Given the description of an element on the screen output the (x, y) to click on. 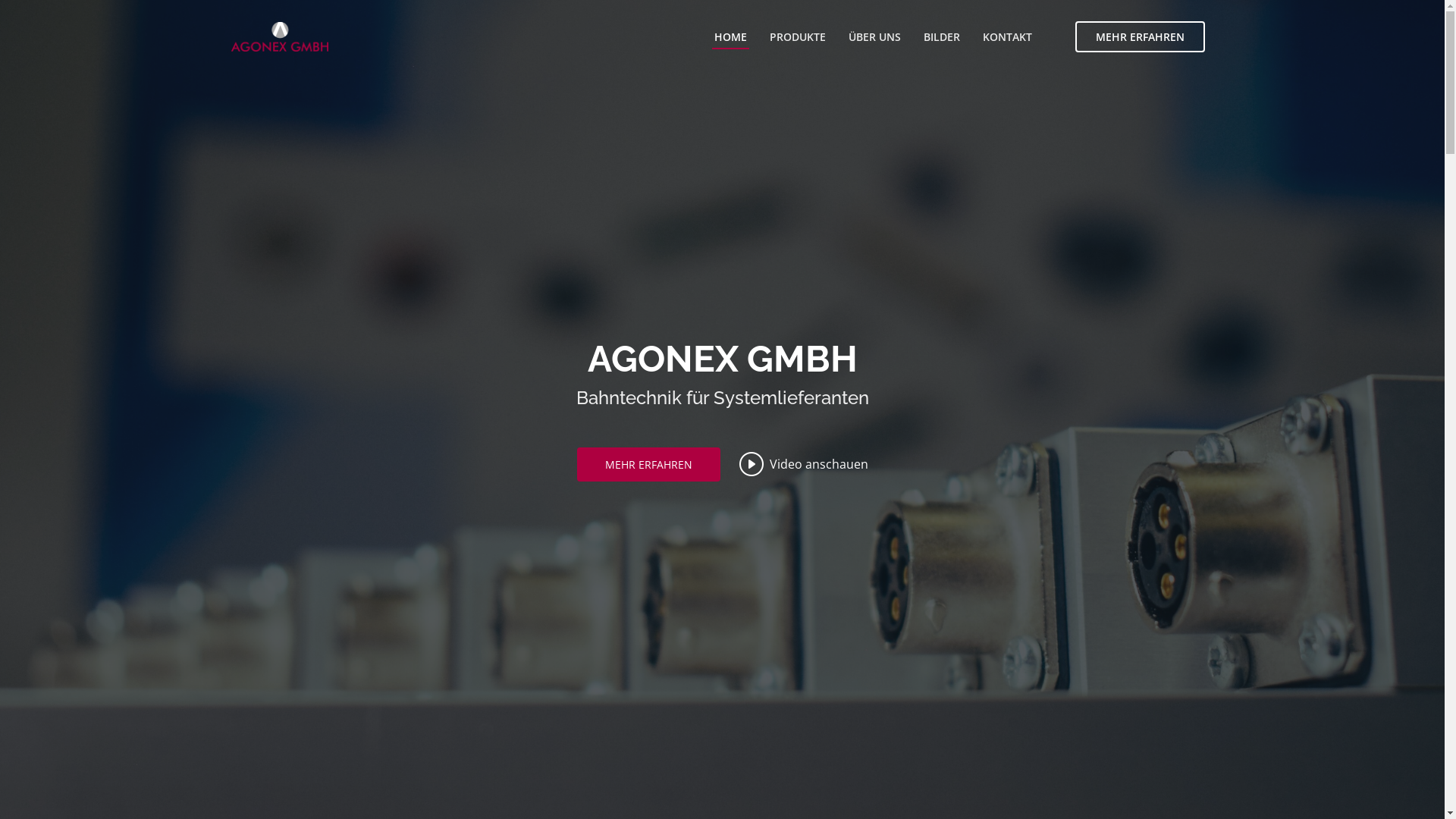
HOME Element type: text (729, 36)
Video anschauen Element type: text (802, 464)
MEHR ERFAHREN Element type: text (647, 464)
PRODUKTE Element type: text (797, 36)
KONTAKT Element type: text (1006, 36)
BILDER Element type: text (940, 36)
MEHR ERFAHREN Element type: text (1139, 36)
